Given the description of an element on the screen output the (x, y) to click on. 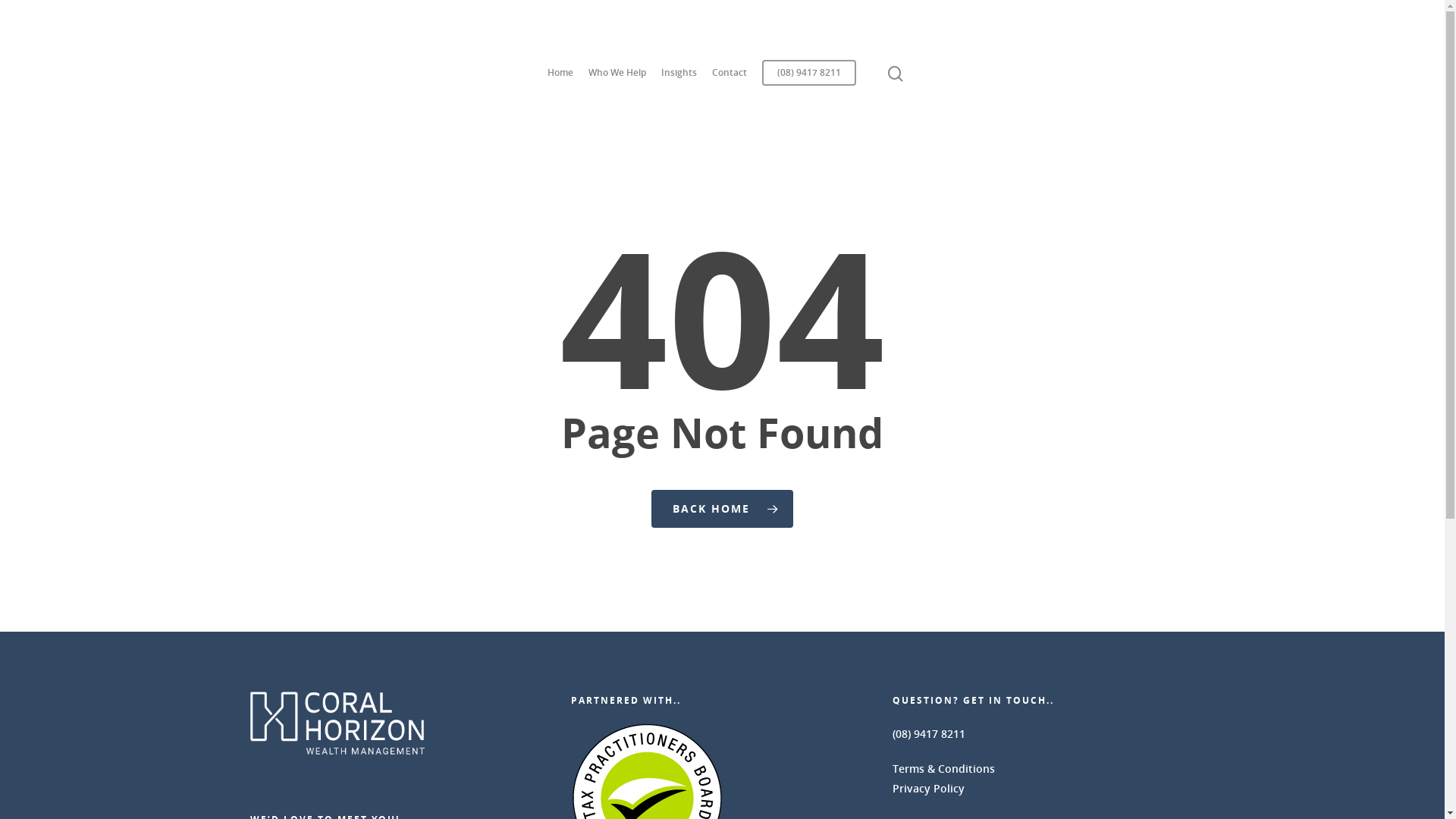
BACK HOME Element type: text (722, 508)
Privacy Policy Element type: text (928, 788)
(08) 9417 8211 Element type: text (809, 80)
Contact Element type: text (729, 80)
Who We Help Element type: text (617, 80)
Home Element type: text (560, 80)
Terms & Conditions Element type: text (943, 768)
(08) 9417 8211 Element type: text (928, 733)
Insights Element type: text (678, 80)
